Given the description of an element on the screen output the (x, y) to click on. 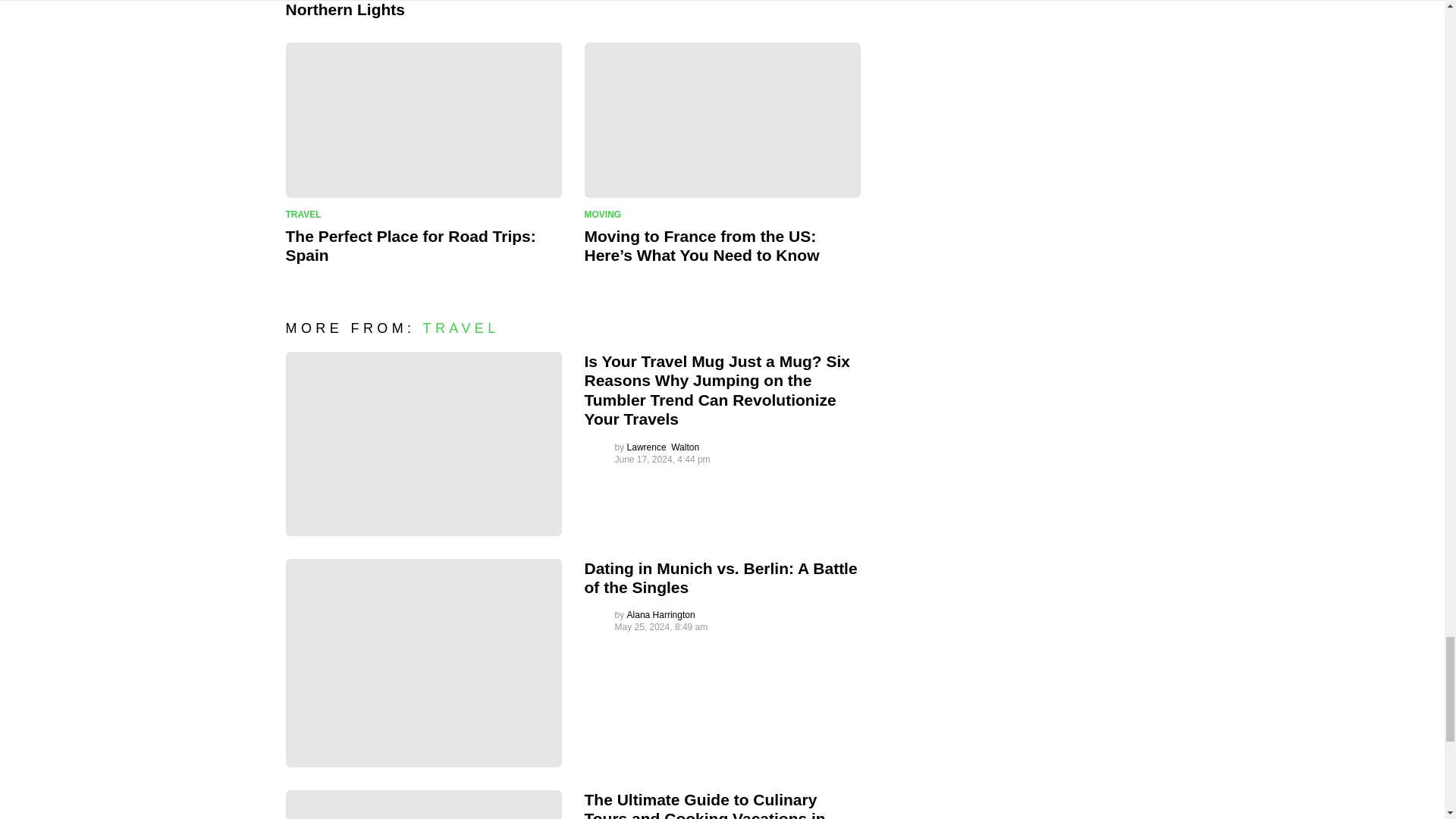
Dating in Munich vs. Berlin: A Battle of the Singles (422, 662)
The Perfect Place for Road Trips: Spain (422, 120)
Posts by Alana Harrington (661, 614)
